Given the description of an element on the screen output the (x, y) to click on. 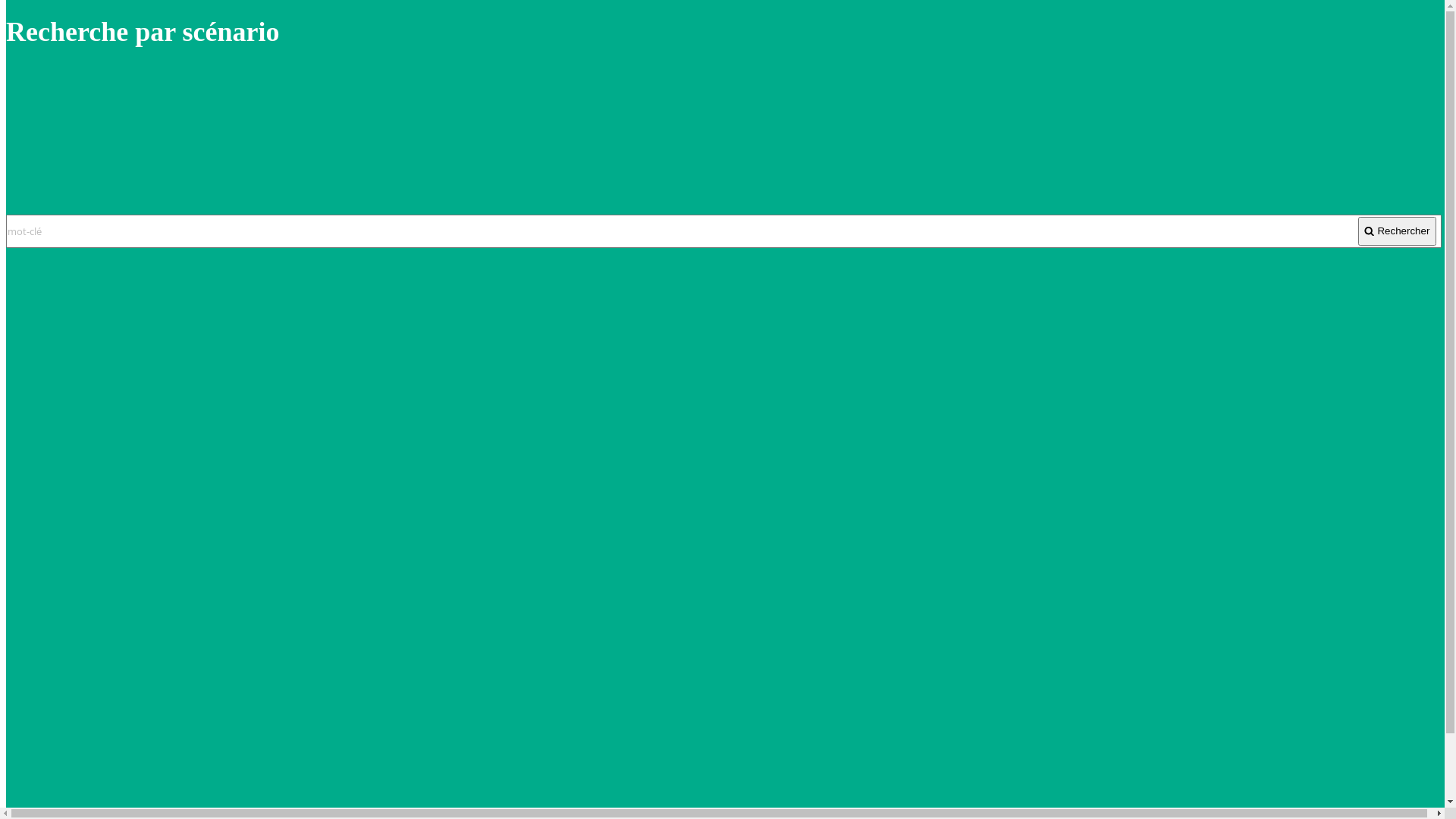
5 Element type: text (94, 761)
Le jardin d'Anna (1992) Element type: text (71, 274)
Rechercher Element type: text (1397, 230)
Accueil Element type: text (56, 142)
2 Element type: text (37, 761)
SUIVANT Element type: text (140, 761)
Recherche par auteur Element type: text (98, 159)
3 Element type: text (59, 761)
1 Element type: text (15, 761)
